Given the description of an element on the screen output the (x, y) to click on. 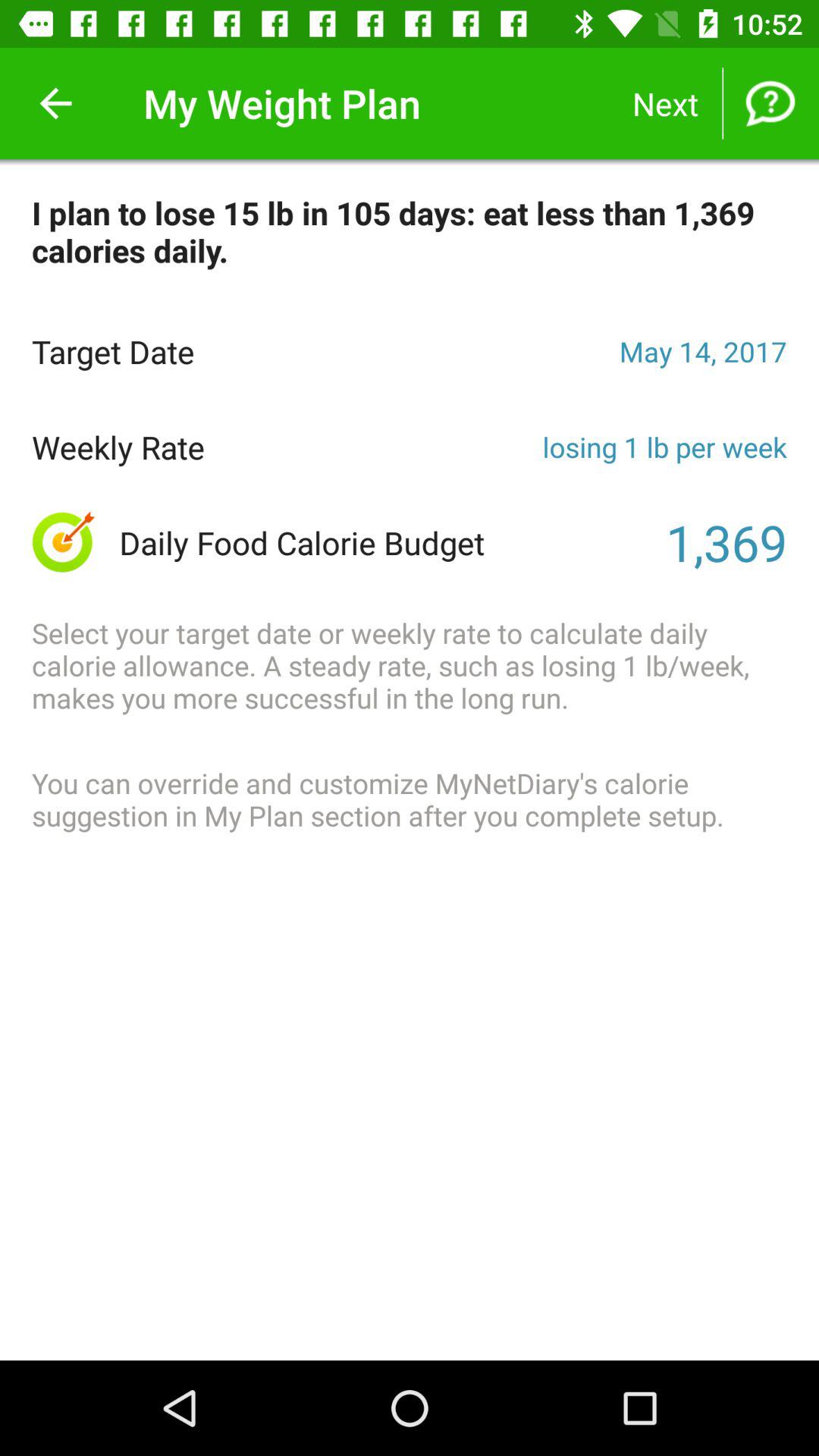
select the item at the top left corner (55, 103)
